Given the description of an element on the screen output the (x, y) to click on. 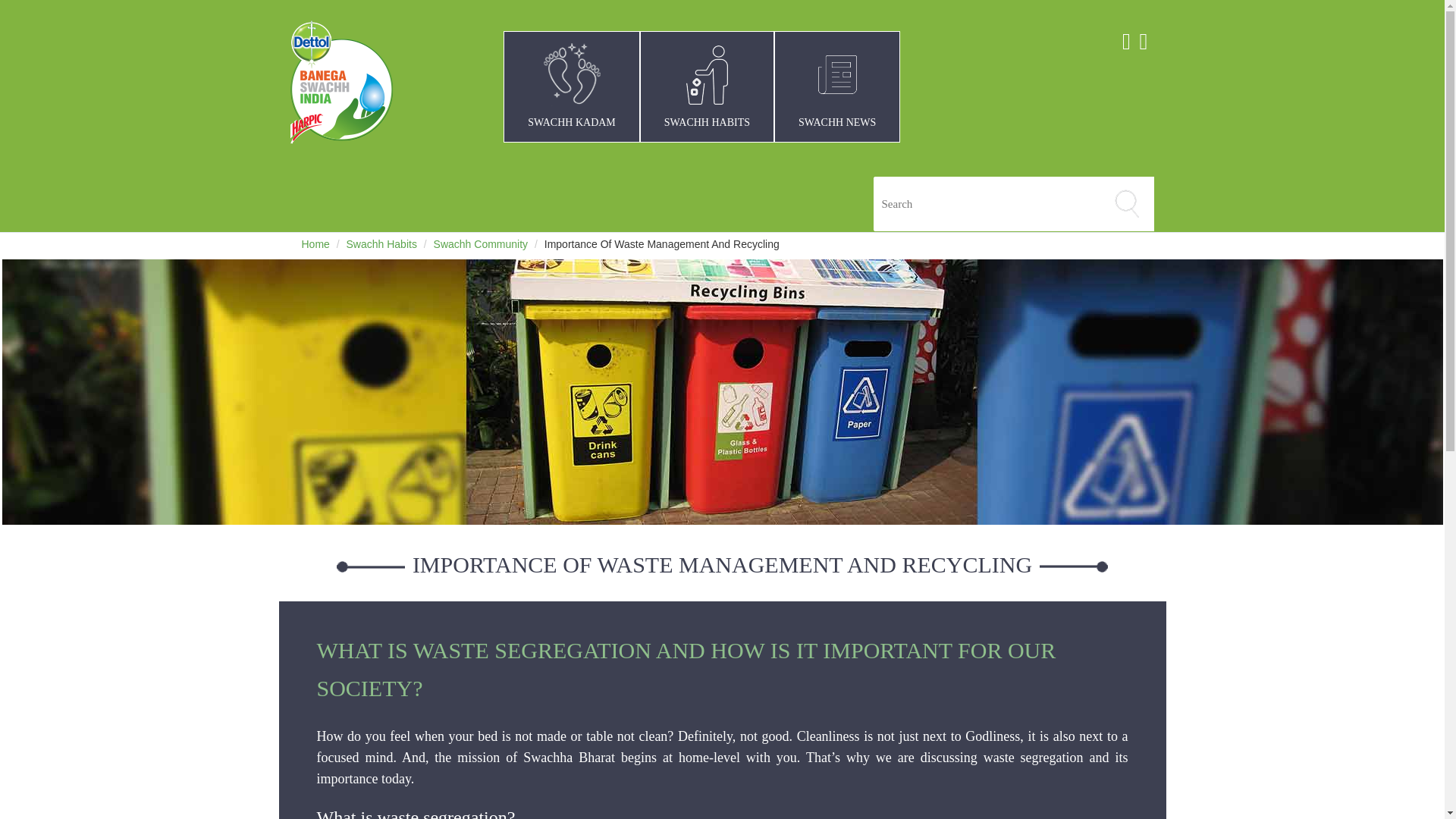
Home (315, 244)
text (999, 203)
Search (1126, 203)
Swachh Habits (381, 244)
Swachh Community (480, 244)
SWACHH NEWS (836, 86)
SWACHH KADAM (571, 86)
SWACHH HABITS (706, 86)
